Given the description of an element on the screen output the (x, y) to click on. 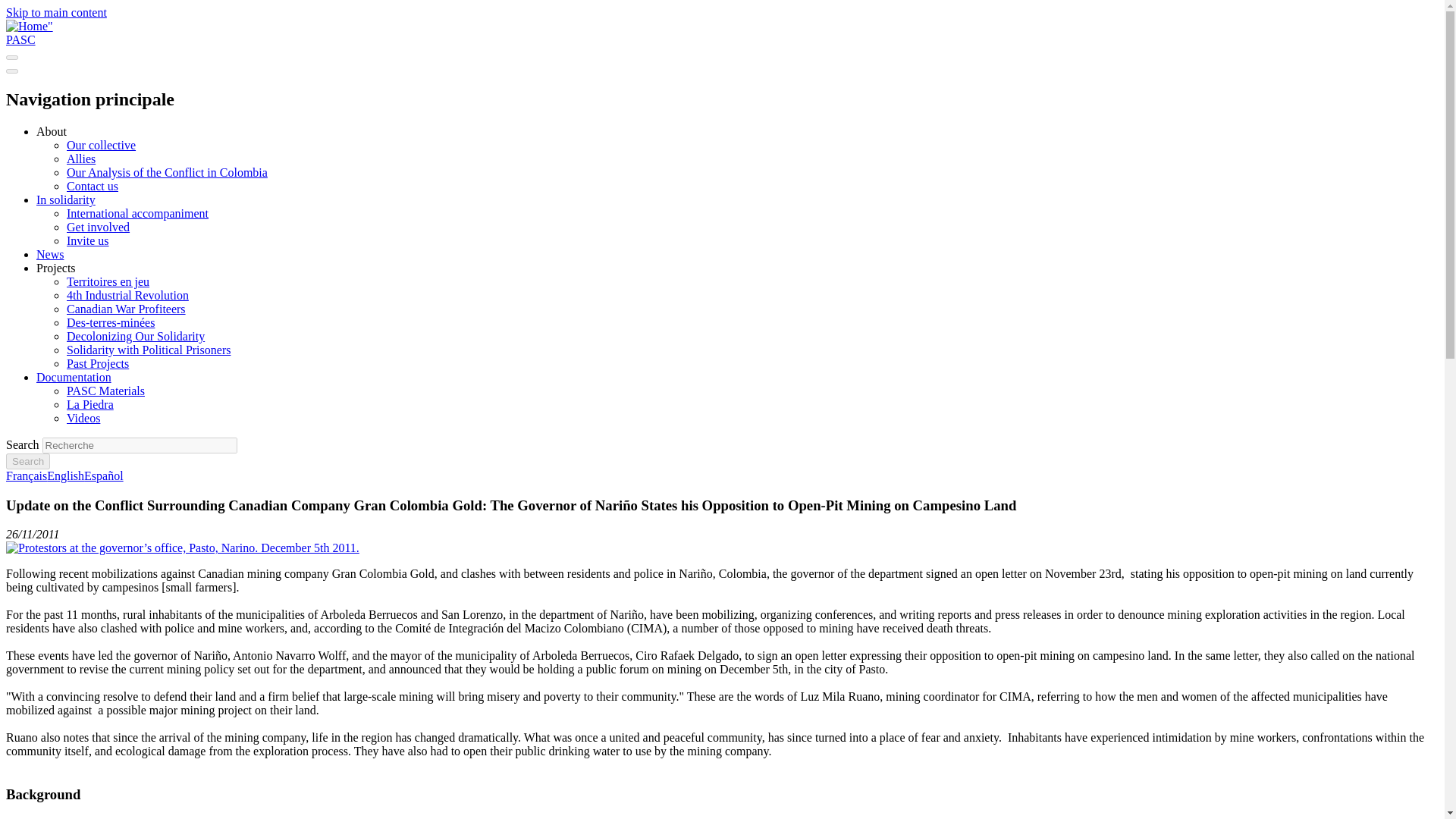
Documentation (74, 377)
Our Analysis of the Conflict in Colombia (166, 172)
Videos (83, 418)
International accompaniment (137, 213)
In solidarity (66, 199)
Skip to main content (55, 11)
Decolonizing Our Solidarity (135, 336)
Canadian War Profiteers (126, 308)
Invite us (87, 240)
Solidarity with Political Prisoners (148, 349)
Contact us (91, 185)
Past Projects (97, 363)
Get involved (97, 226)
PASC Materials (105, 390)
English (65, 475)
